Given the description of an element on the screen output the (x, y) to click on. 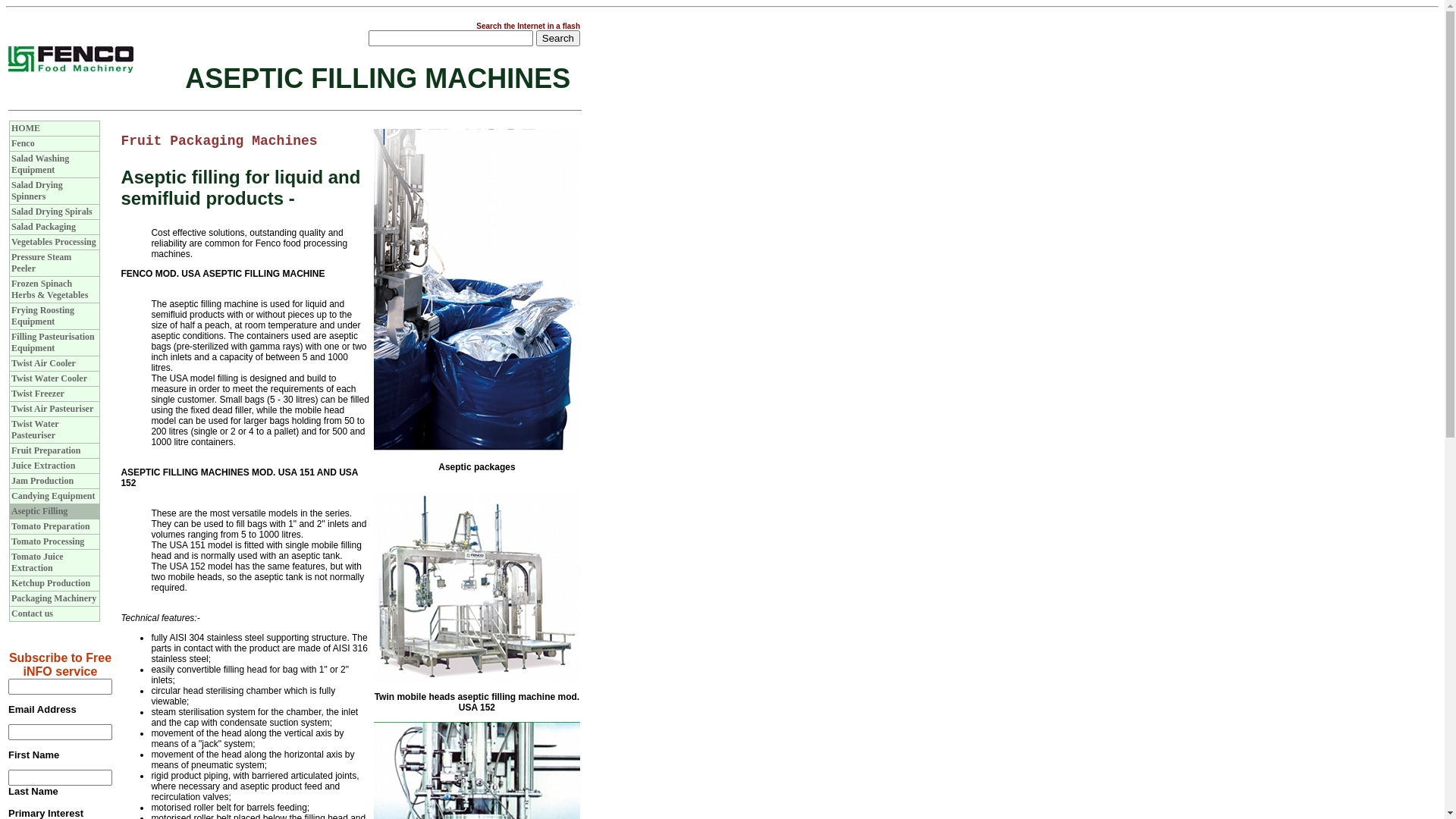
Ketchup Production Element type: text (50, 582)
Candying Equipment Element type: text (52, 495)
Twist Water Pasteuriser Element type: text (34, 429)
Jam Production Element type: text (42, 480)
Salad Washing Equipment Element type: text (40, 164)
Twist Water Cooler Element type: text (49, 378)
Fenco Element type: text (22, 143)
Tomato Juice Extraction Element type: text (37, 562)
Pressure Steam Peeler Element type: text (41, 262)
Search Element type: text (558, 38)
Vegetables Processing Element type: text (53, 241)
Frozen Spinach Herbs & Vegetables Element type: text (49, 289)
Frying Roosting Equipment Element type: text (42, 315)
Fruit Preparation Element type: text (45, 450)
Aseptic Filling Element type: text (39, 510)
Tomato Preparation Element type: text (50, 525)
Twist Air Cooler Element type: text (43, 362)
Packaging Machinery Element type: text (53, 598)
Tomato Processing Element type: text (47, 541)
Contact us Element type: text (32, 613)
HOME Element type: text (25, 127)
Salad Packaging Element type: text (43, 226)
Salad Drying Spirals Element type: text (51, 211)
Twist Air Pasteuriser Element type: text (52, 408)
Juice Extraction Element type: text (43, 465)
Salad Drying Spinners Element type: text (36, 190)
Twist Freezer Element type: text (37, 393)
Filling Pasteurisation Equipment Element type: text (52, 342)
